Given the description of an element on the screen output the (x, y) to click on. 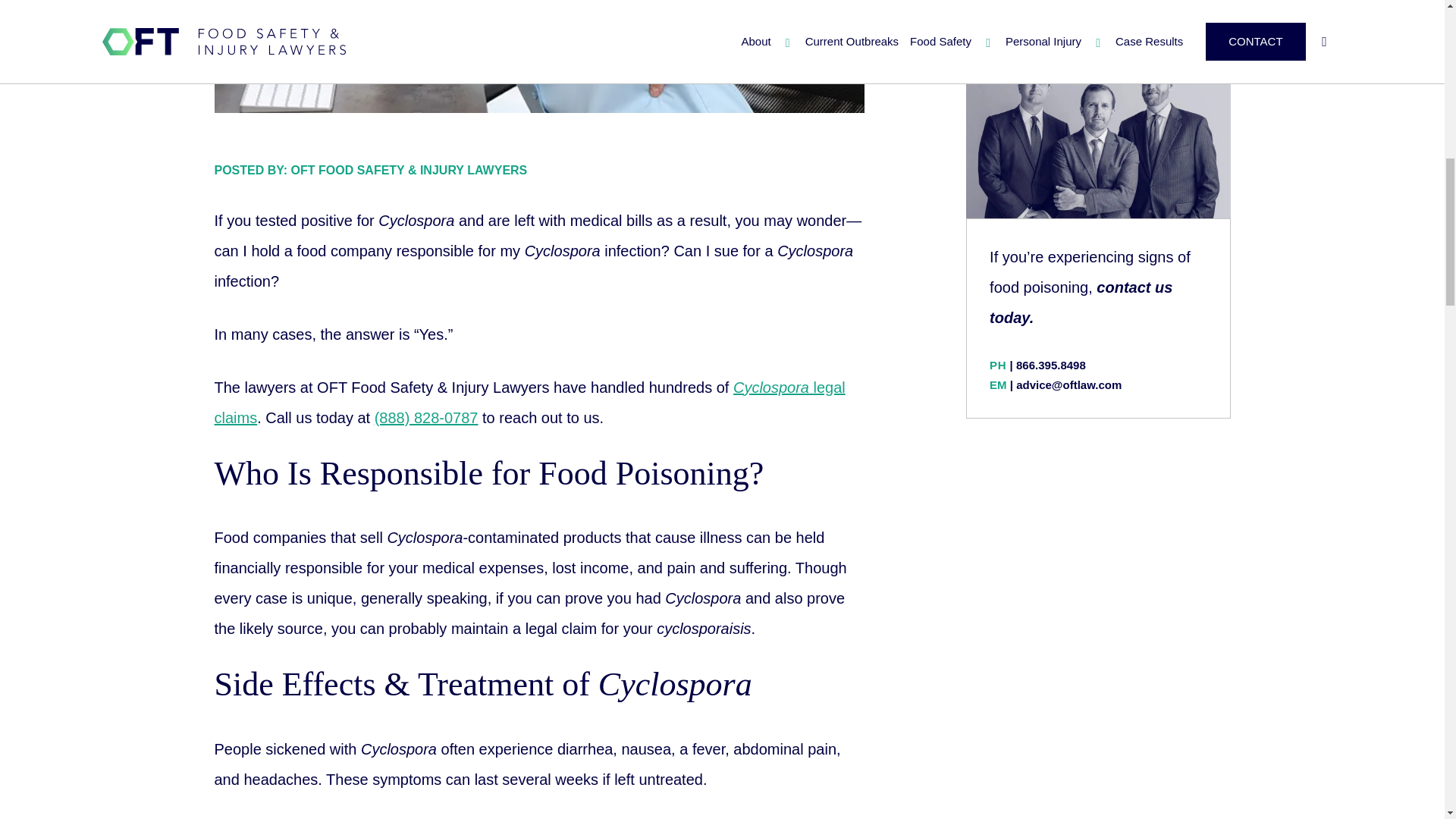
"Lawyers (529, 402)
Call OFT Law Today (1051, 364)
Email OFT Law Today (1068, 384)
